Given the description of an element on the screen output the (x, y) to click on. 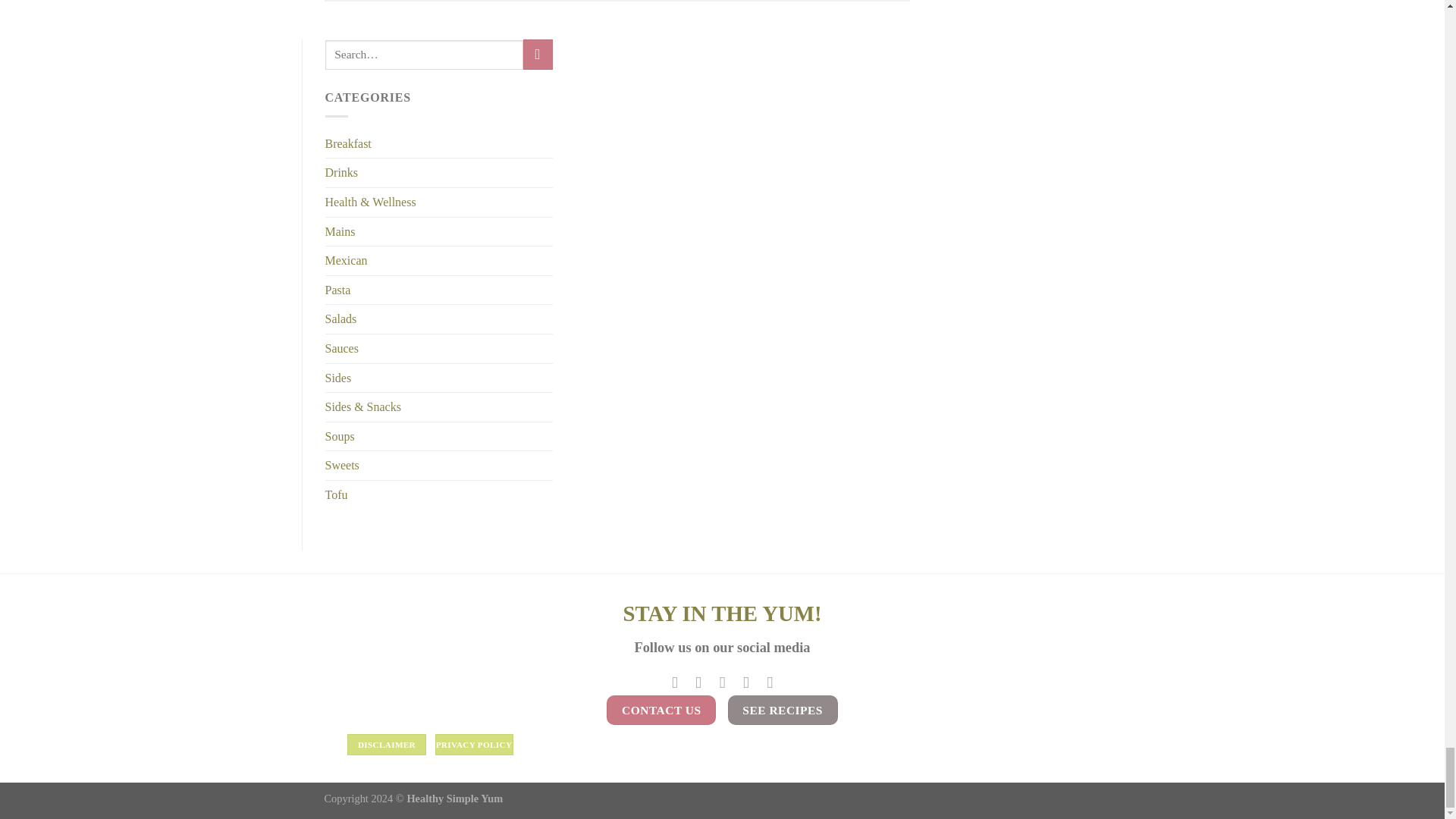
Follow on Instagram (698, 682)
Follow on Facebook (674, 682)
Send us an email (722, 682)
